Given the description of an element on the screen output the (x, y) to click on. 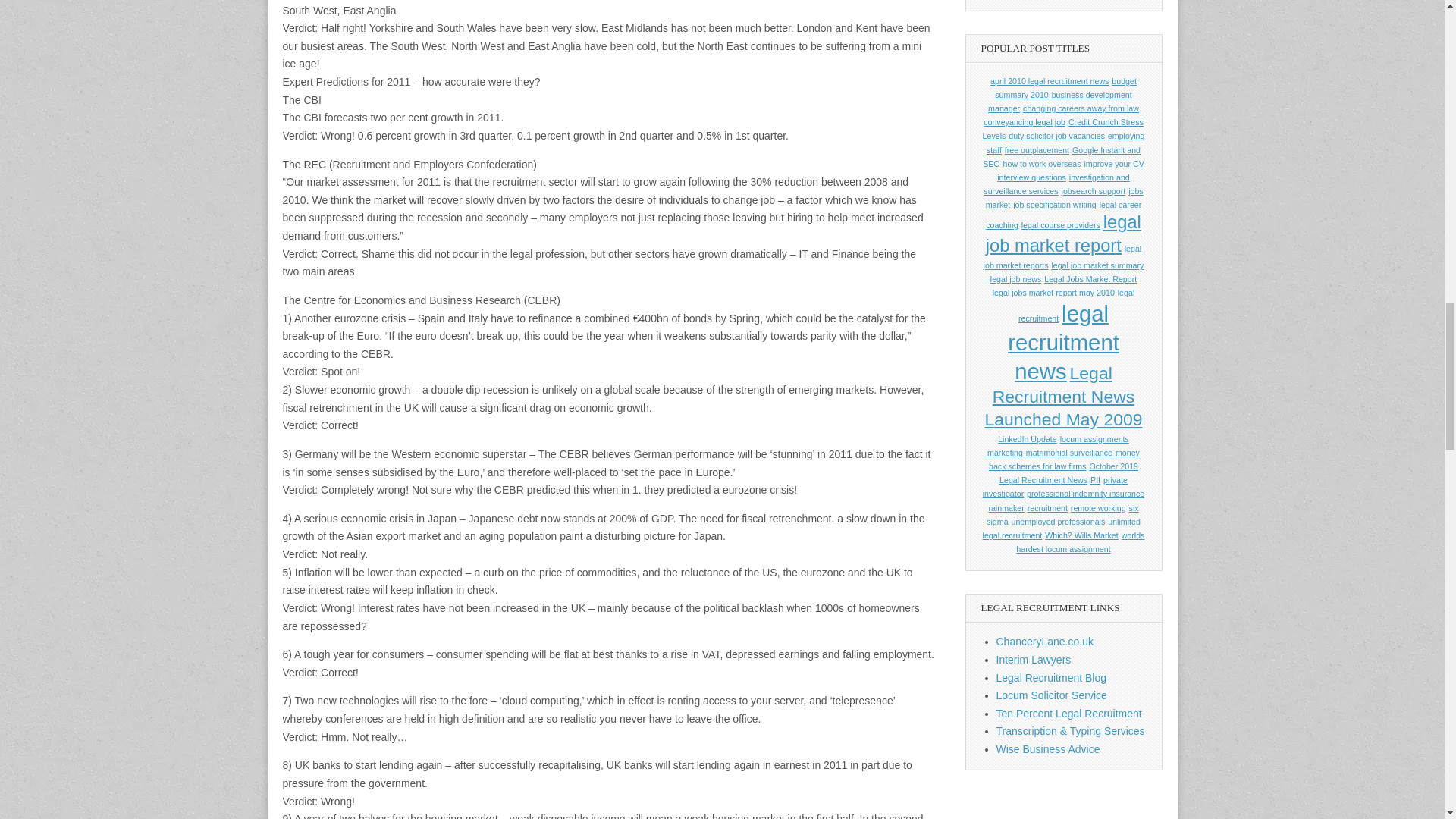
Interim Lawyers Locum Recruitment (1033, 659)
